Given the description of an element on the screen output the (x, y) to click on. 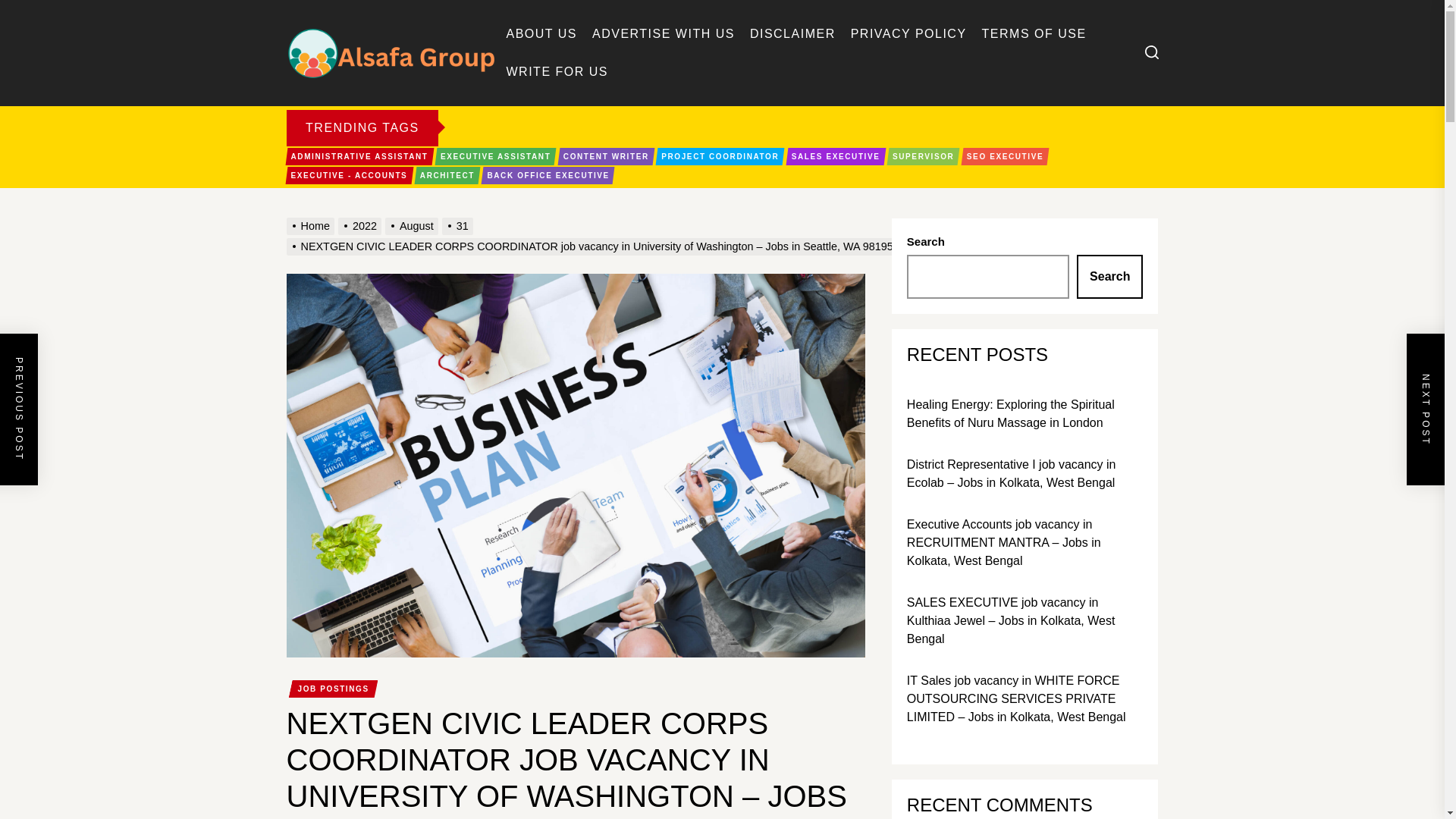
ADMINISTRATIVE ASSISTANT (359, 156)
WRITE FOR US (557, 71)
2022 (361, 225)
PROJECT COORDINATOR (719, 156)
ARCHITECT (446, 175)
TERMS OF USE (1033, 33)
JOB POSTINGS (333, 688)
August (413, 225)
DISCLAIMER (792, 33)
EXECUTIVE ASSISTANT (494, 156)
31 (459, 225)
CONTENT WRITER (606, 156)
SEO EXECUTIVE (1005, 156)
EXECUTIVE - ACCOUNTS (349, 175)
BACK OFFICE EXECUTIVE (546, 175)
